Given the description of an element on the screen output the (x, y) to click on. 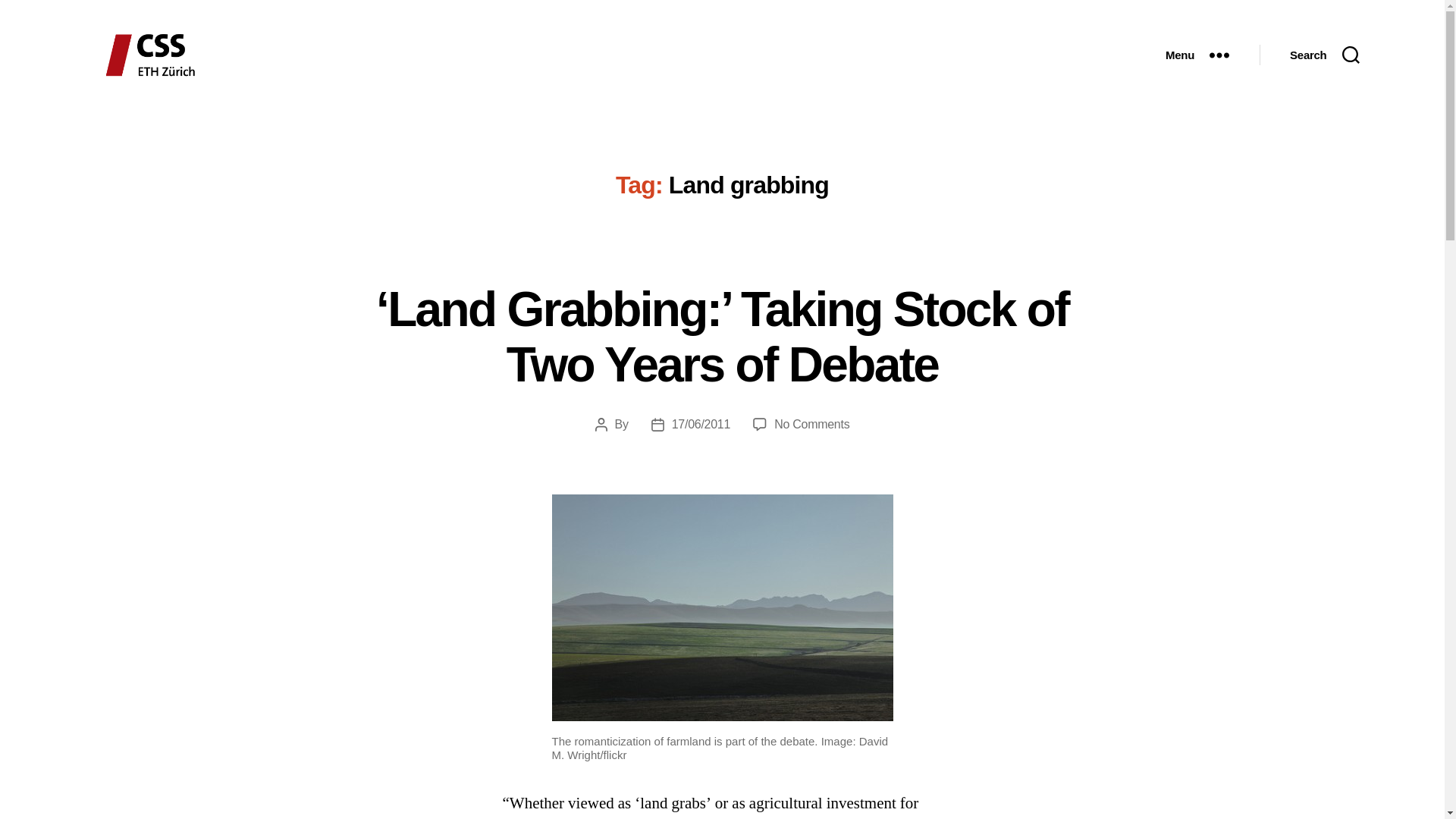
farmland (722, 607)
Search (1324, 55)
Menu (1197, 55)
